Given the description of an element on the screen output the (x, y) to click on. 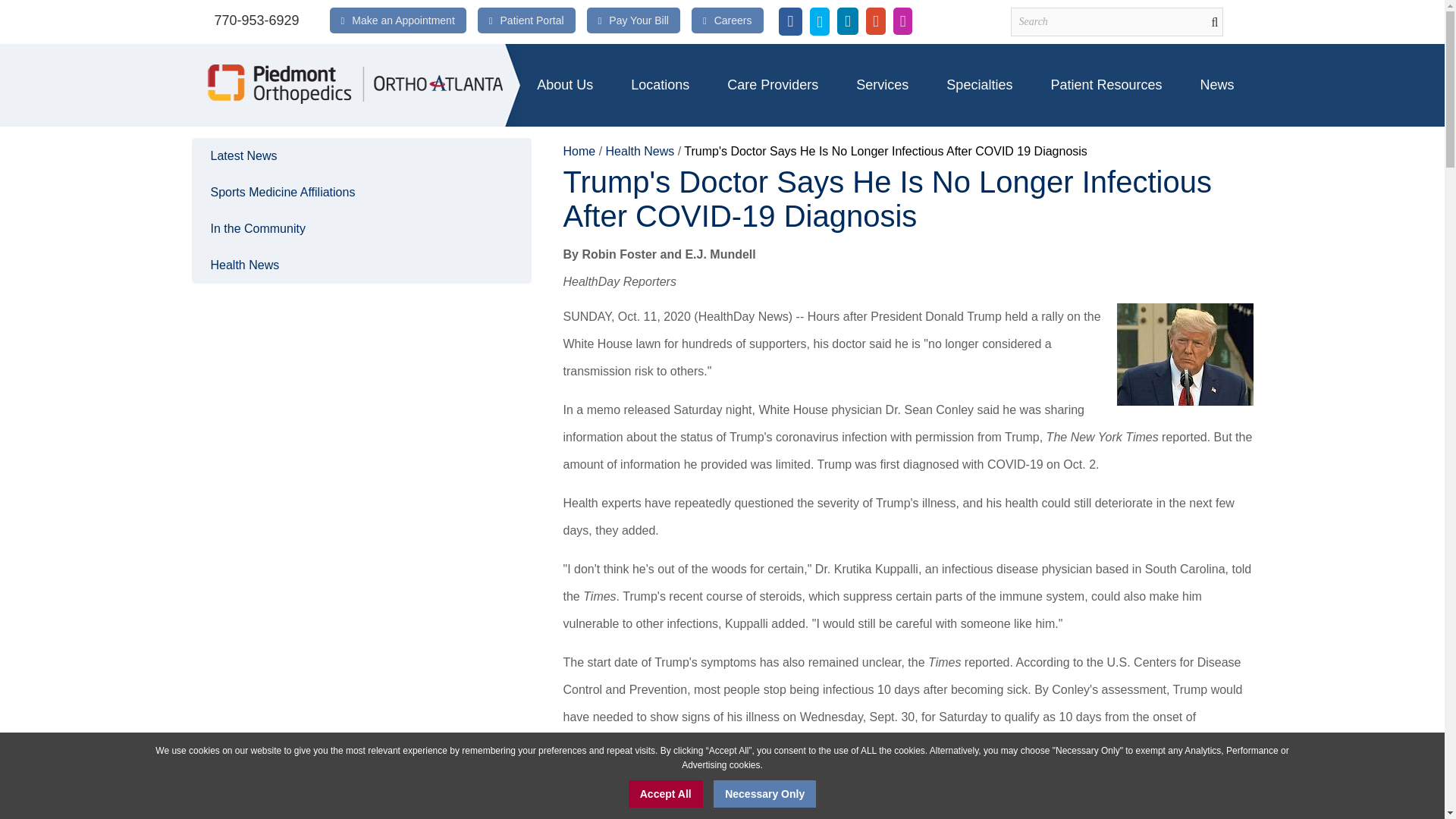
Make an Appointment (403, 19)
Patient Portal (532, 19)
Locations (659, 85)
Pay Your Bill (638, 19)
Careers (733, 19)
About Us (564, 85)
Search (1116, 21)
Search (1116, 21)
770-953-6929 (256, 20)
